Given the description of an element on the screen output the (x, y) to click on. 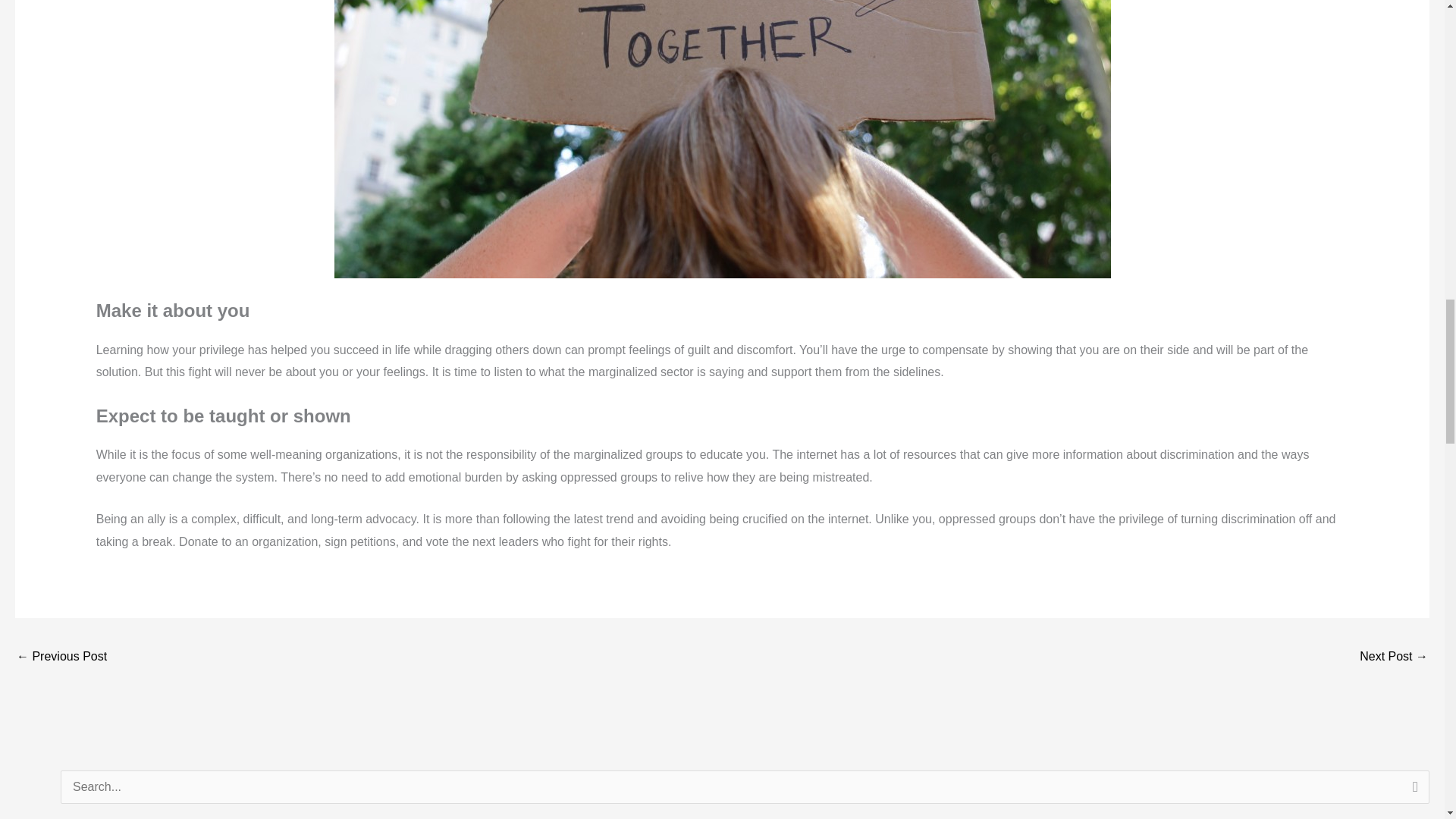
The Art of Female Power Dressing (1393, 657)
